Given the description of an element on the screen output the (x, y) to click on. 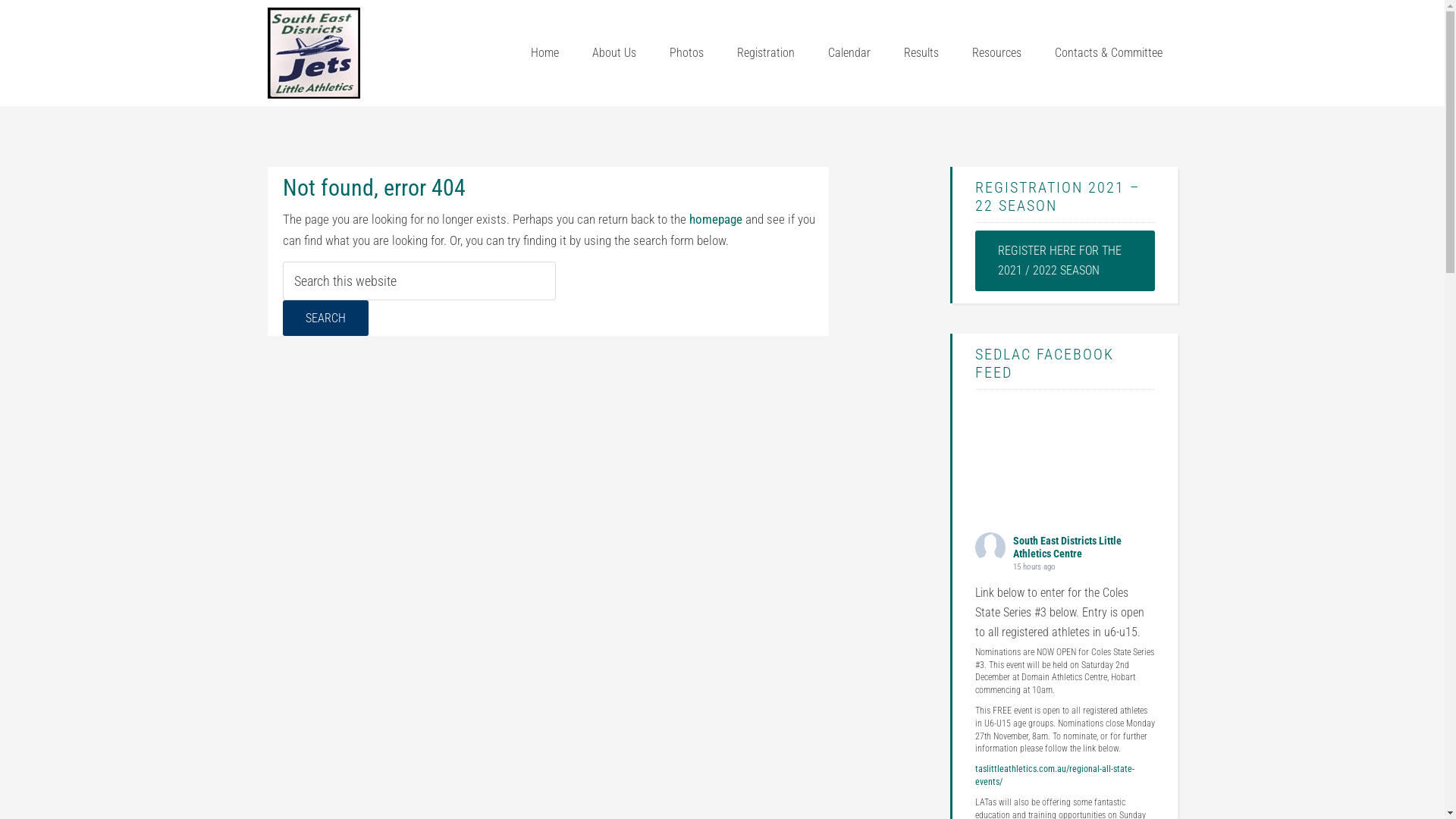
Home Element type: text (544, 52)
homepage Element type: text (714, 218)
Registration Element type: text (765, 52)
Calendar Element type: text (848, 52)
taslittleathletics.com.au/regional-all-state-events/ Element type: text (1054, 775)
Contacts & Committee Element type: text (1107, 52)
Photos Element type: text (685, 52)
South East Districts Little Athletics Centre Element type: text (1067, 546)
Search Element type: text (324, 317)
REGISTER HERE FOR THE 2021 / 2022 SEASON Element type: text (1064, 260)
Results Element type: text (920, 52)
About Us Element type: text (613, 52)
Resources Element type: text (996, 52)
